Given the description of an element on the screen output the (x, y) to click on. 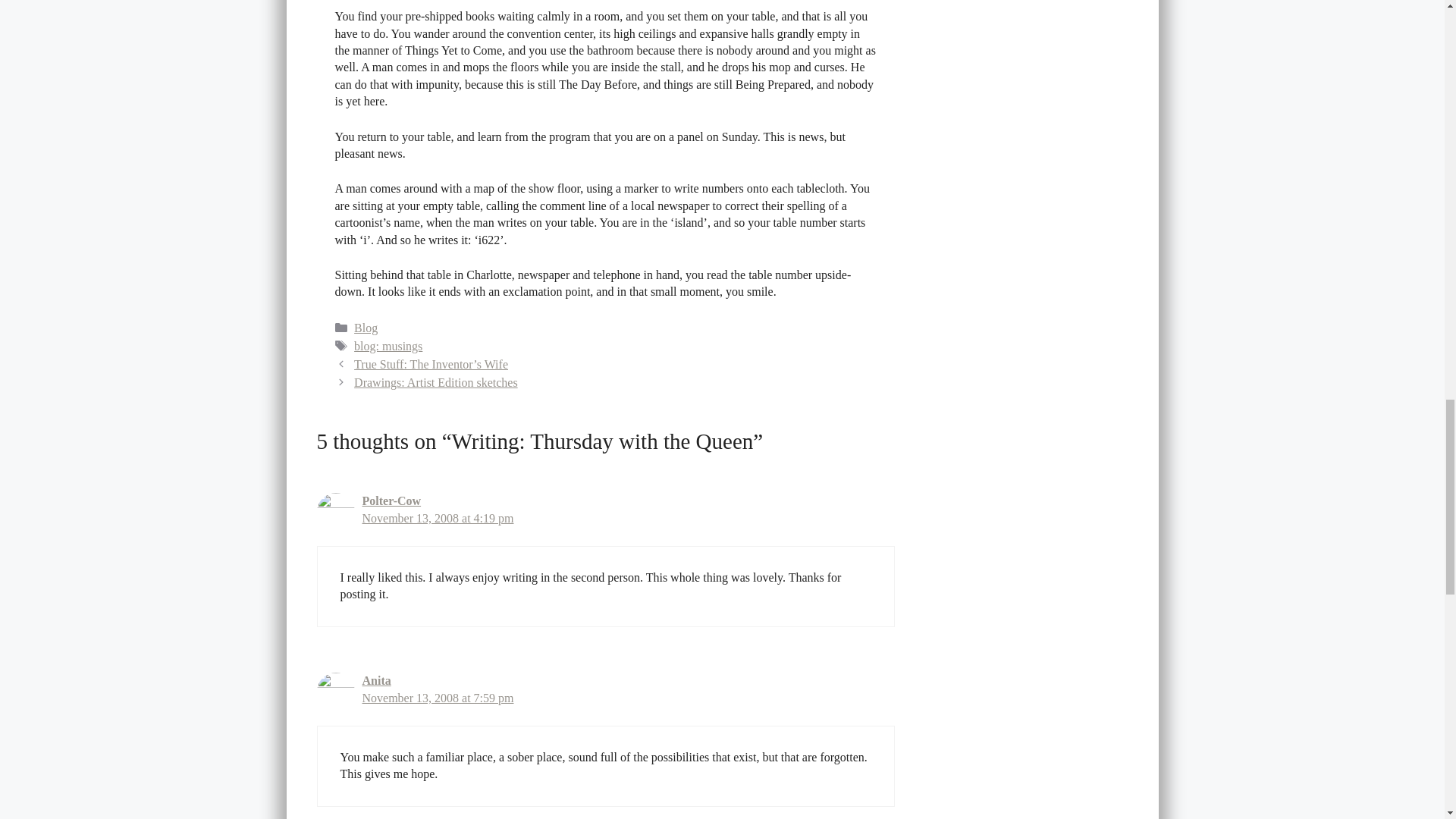
November 13, 2008 at 7:59 pm (437, 697)
Anita (376, 680)
blog: musings (387, 345)
Polter-Cow (392, 500)
Blog (365, 327)
Drawings: Artist Edition sketches (435, 382)
November 13, 2008 at 4:19 pm (437, 517)
